Given the description of an element on the screen output the (x, y) to click on. 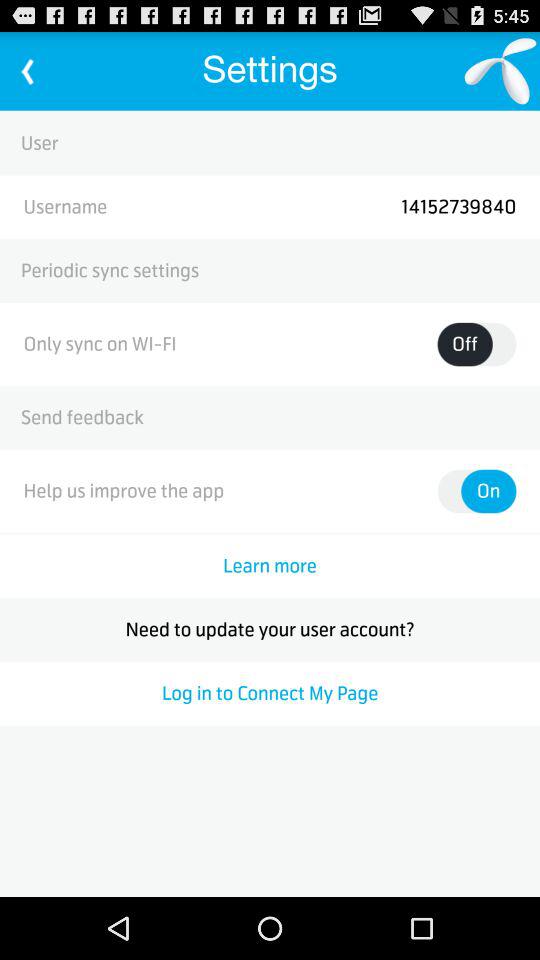
click icon below need to update (270, 693)
